Given the description of an element on the screen output the (x, y) to click on. 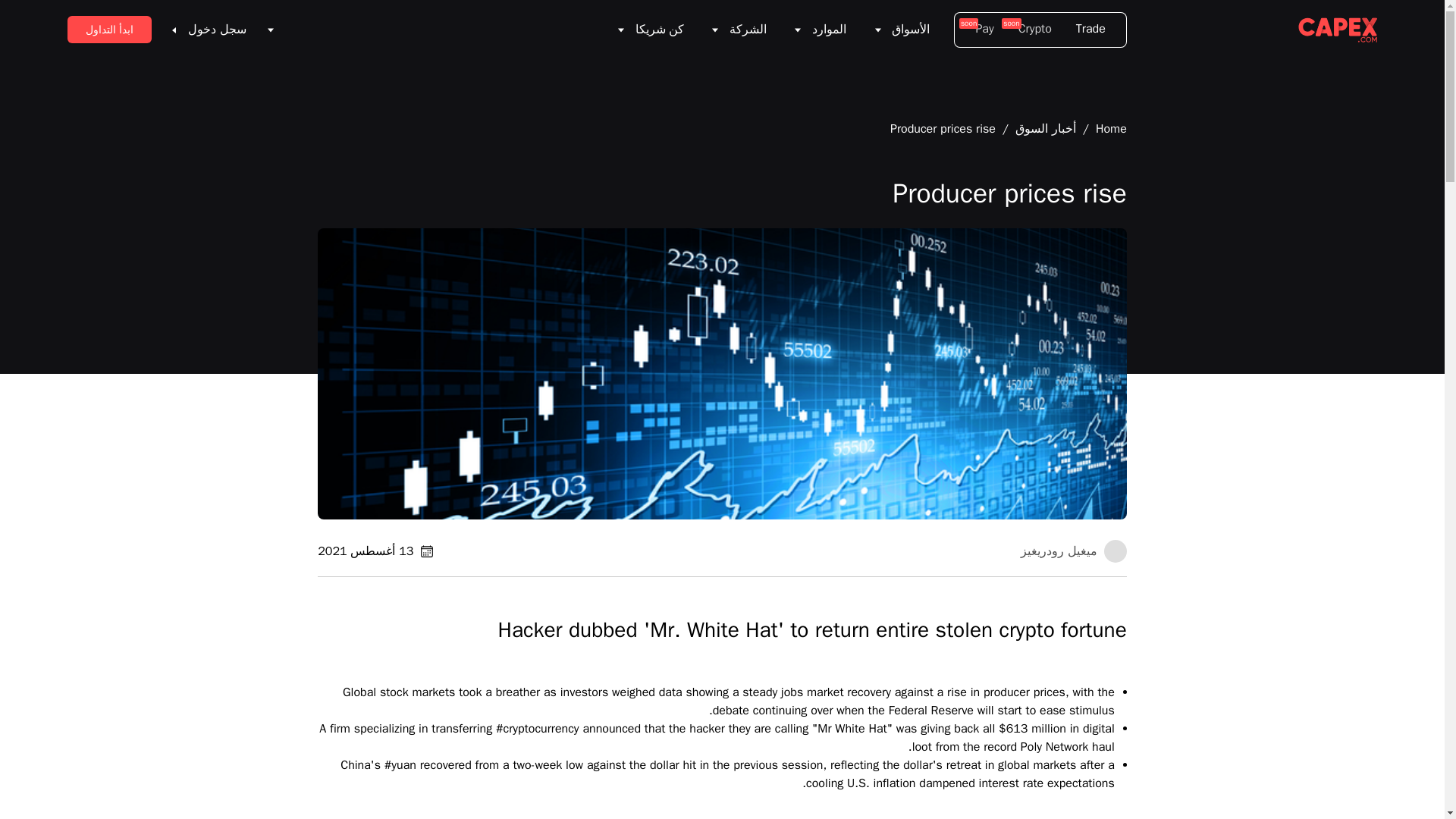
CAPEX.com (1337, 29)
Trade (1095, 29)
